Given the description of an element on the screen output the (x, y) to click on. 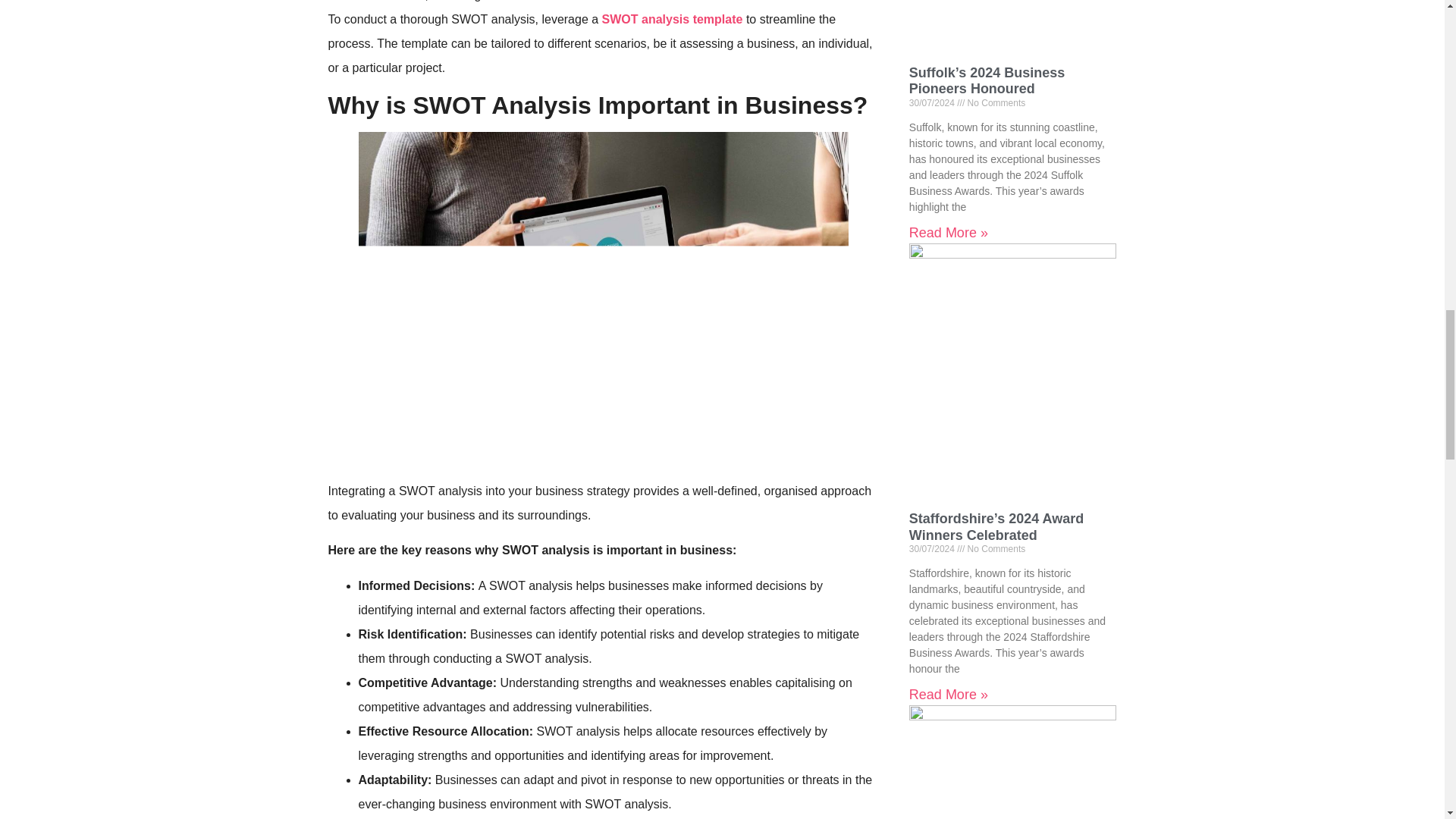
SWOT analysis template (672, 19)
